Given the description of an element on the screen output the (x, y) to click on. 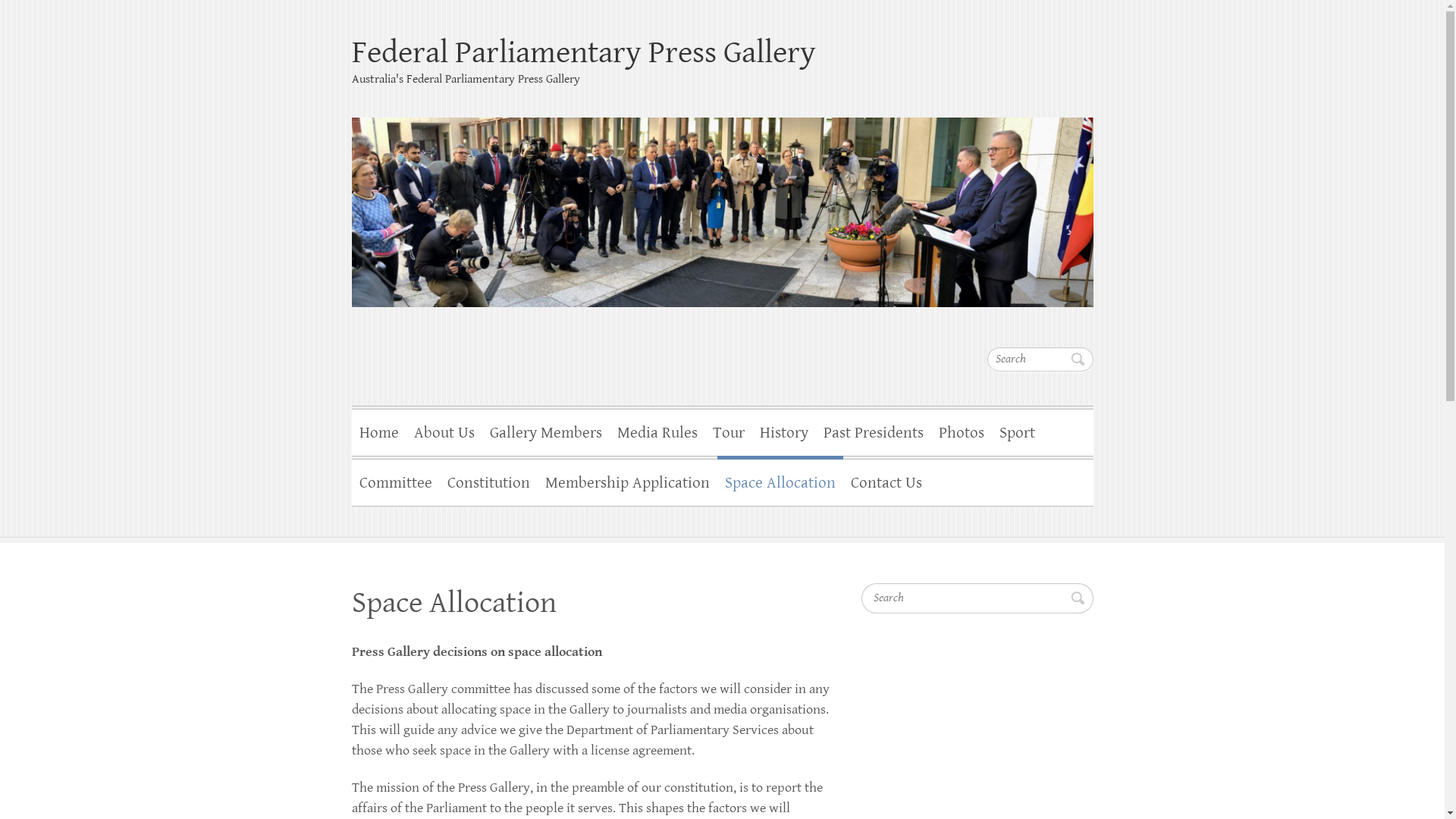
Constitution Element type: text (488, 480)
Gallery Members Element type: text (545, 430)
Membership Application Element type: text (626, 480)
Federal Parliamentary Press Gallery Element type: text (722, 52)
Contact Us Element type: text (886, 480)
Space Allocation Element type: text (780, 480)
Federal Parliamentary Press Gallery Element type: hover (722, 201)
Committee Element type: text (395, 480)
Tour Element type: text (728, 430)
Home Element type: text (378, 430)
Photos Element type: text (961, 430)
Past Presidents Element type: text (873, 430)
Media Rules Element type: text (657, 430)
About Us Element type: text (444, 430)
Sport Element type: text (1016, 430)
History Element type: text (783, 430)
